Given the description of an element on the screen output the (x, y) to click on. 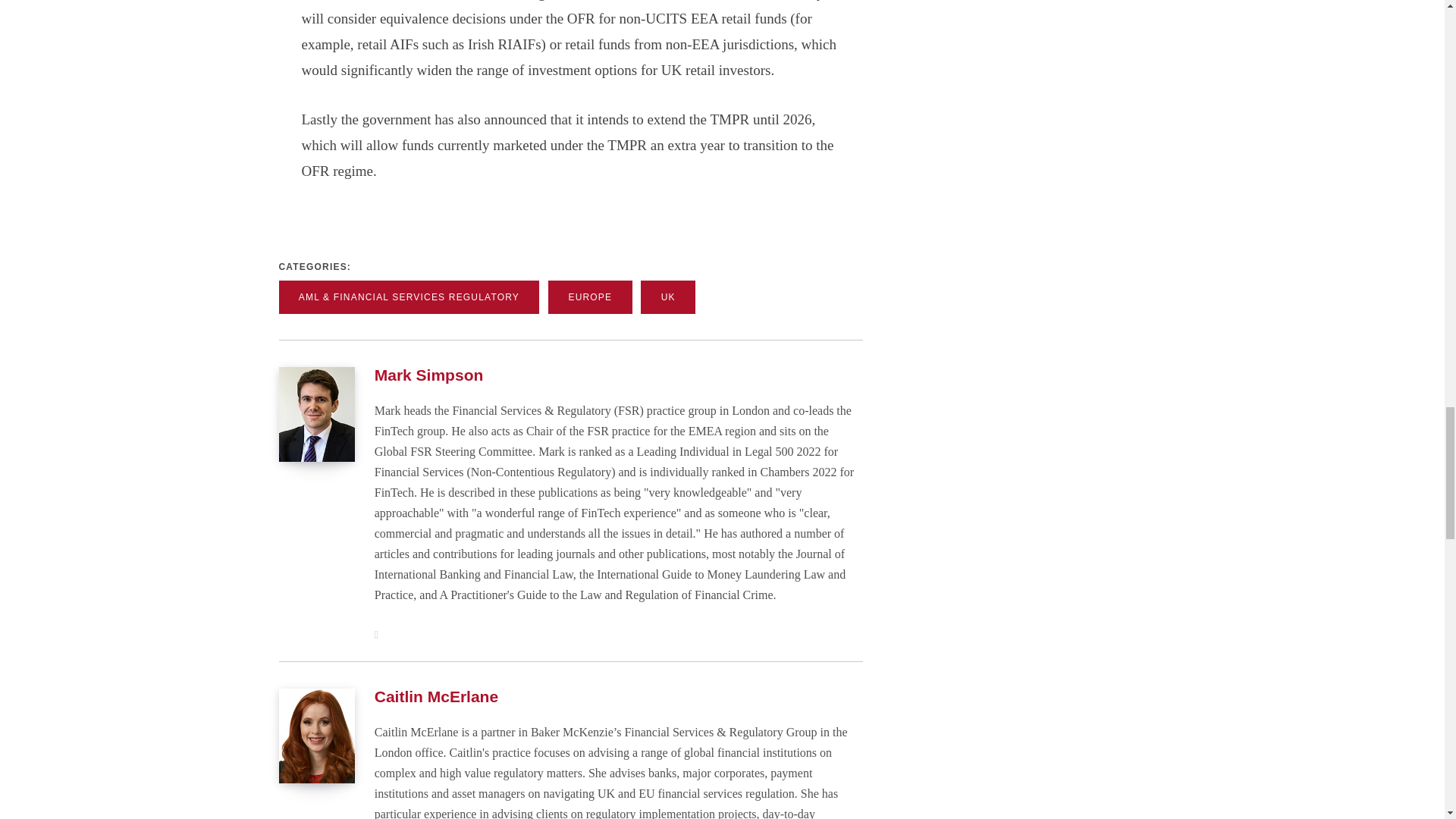
Posts by Mark Simpson (428, 374)
Posts by Caitlin McErlane (435, 696)
